Given the description of an element on the screen output the (x, y) to click on. 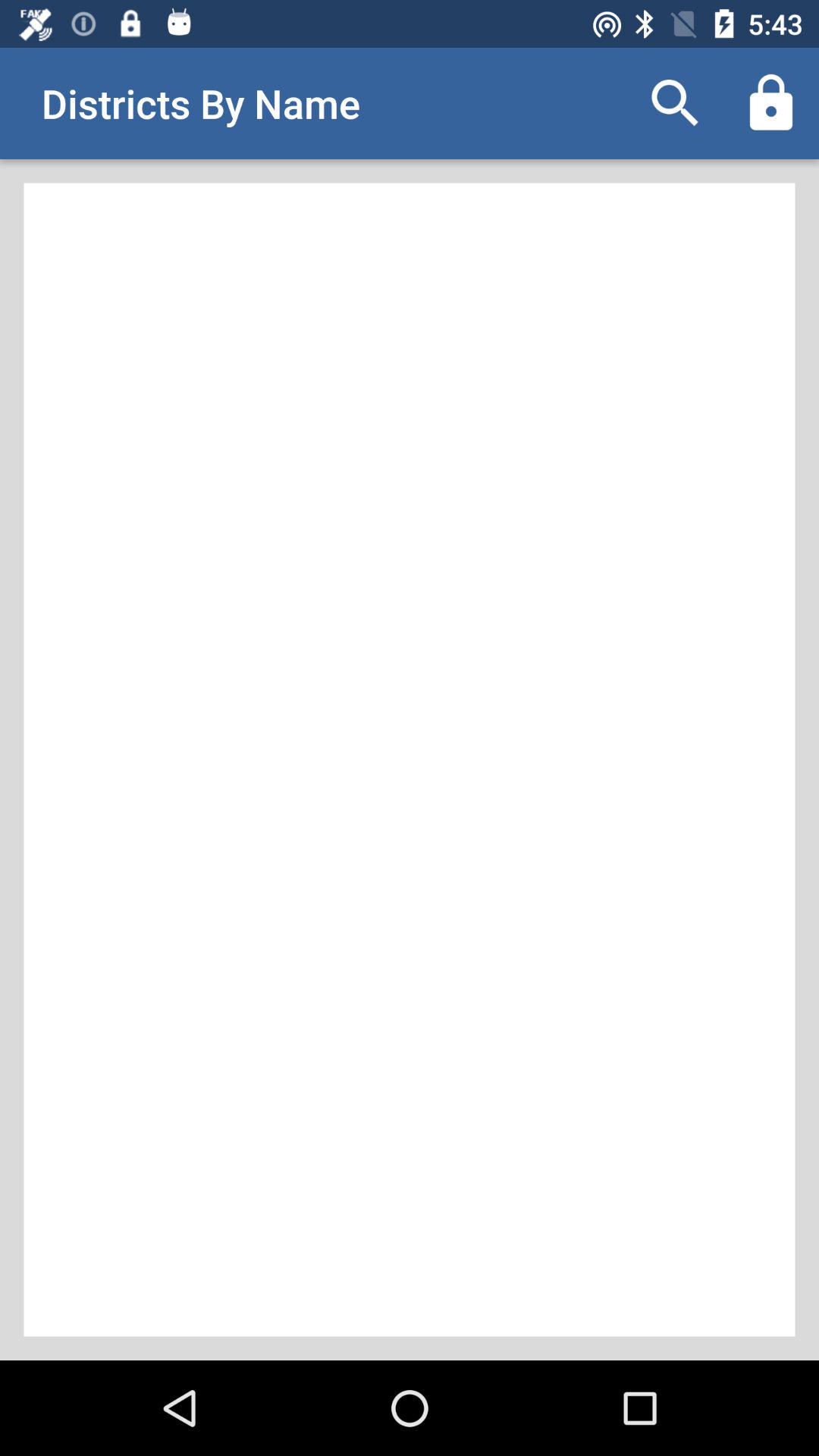
open icon at the center (409, 759)
